Given the description of an element on the screen output the (x, y) to click on. 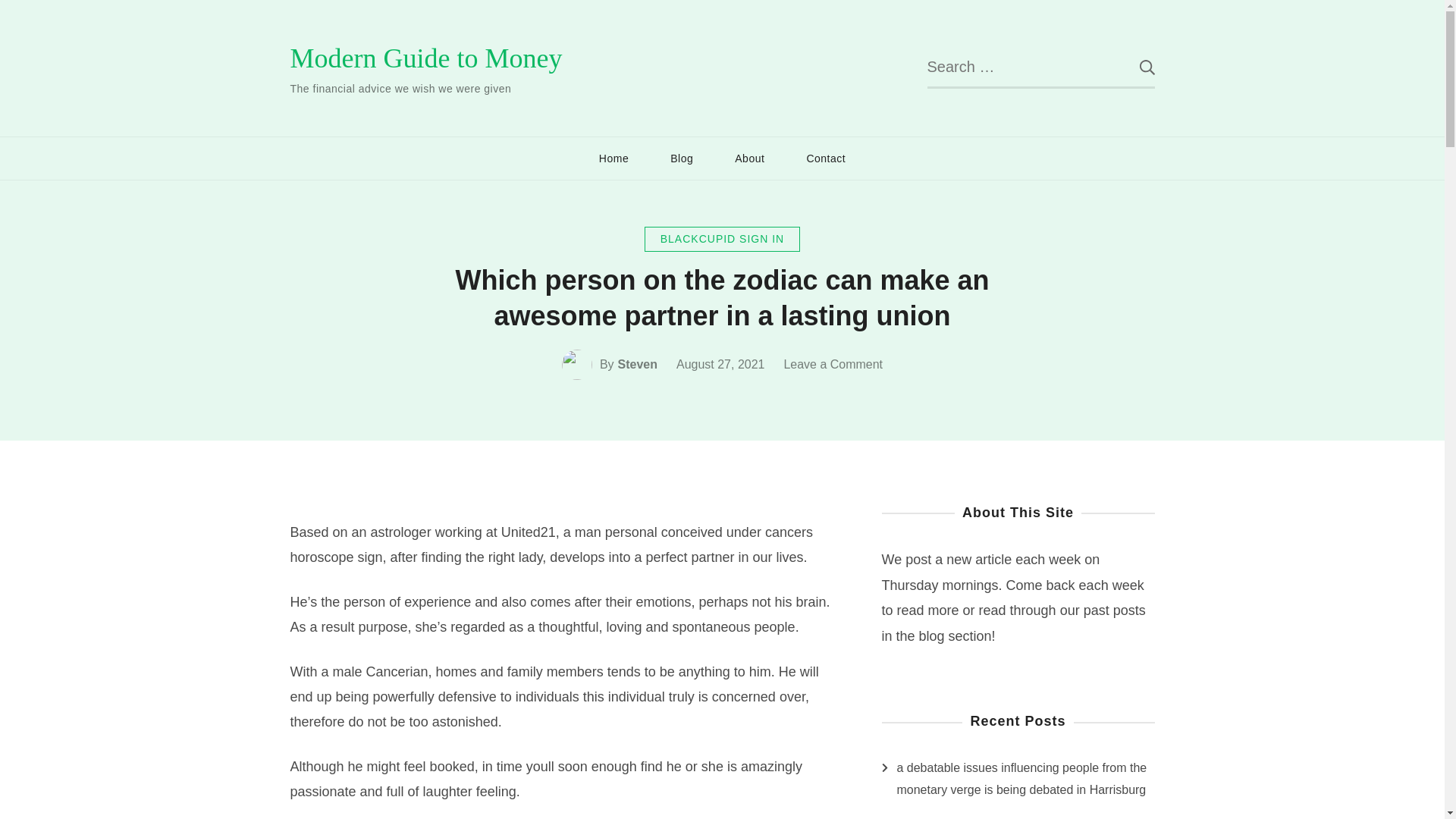
August 27, 2021 (720, 363)
Search (1135, 67)
Search (1135, 67)
Blog (680, 158)
Contact (825, 158)
BLACKCUPID SIGN IN (722, 238)
Search (1135, 67)
